Given the description of an element on the screen output the (x, y) to click on. 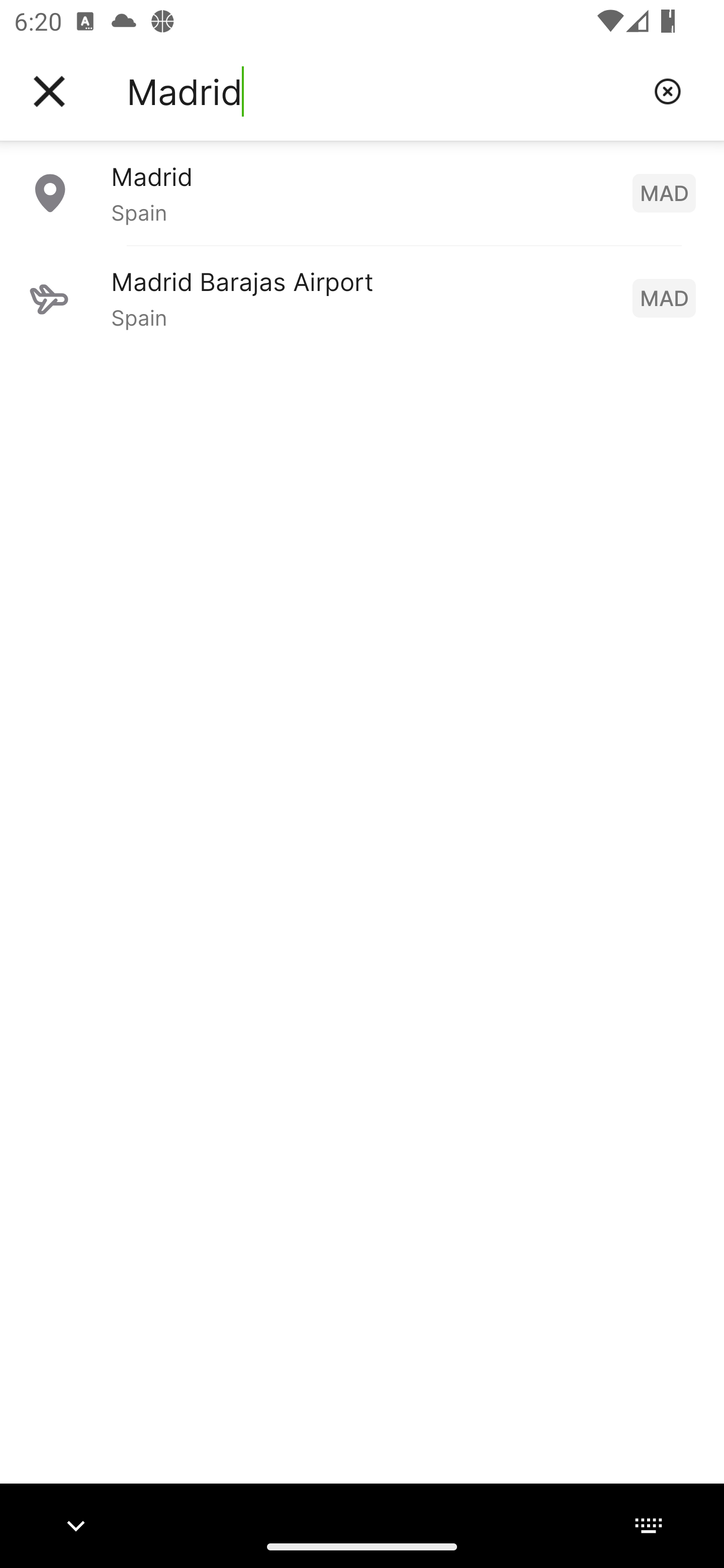
Madrid (382, 91)
Madrid Spain MAD (362, 192)
Madrid Barajas Airport Spain MAD (362, 297)
